Given the description of an element on the screen output the (x, y) to click on. 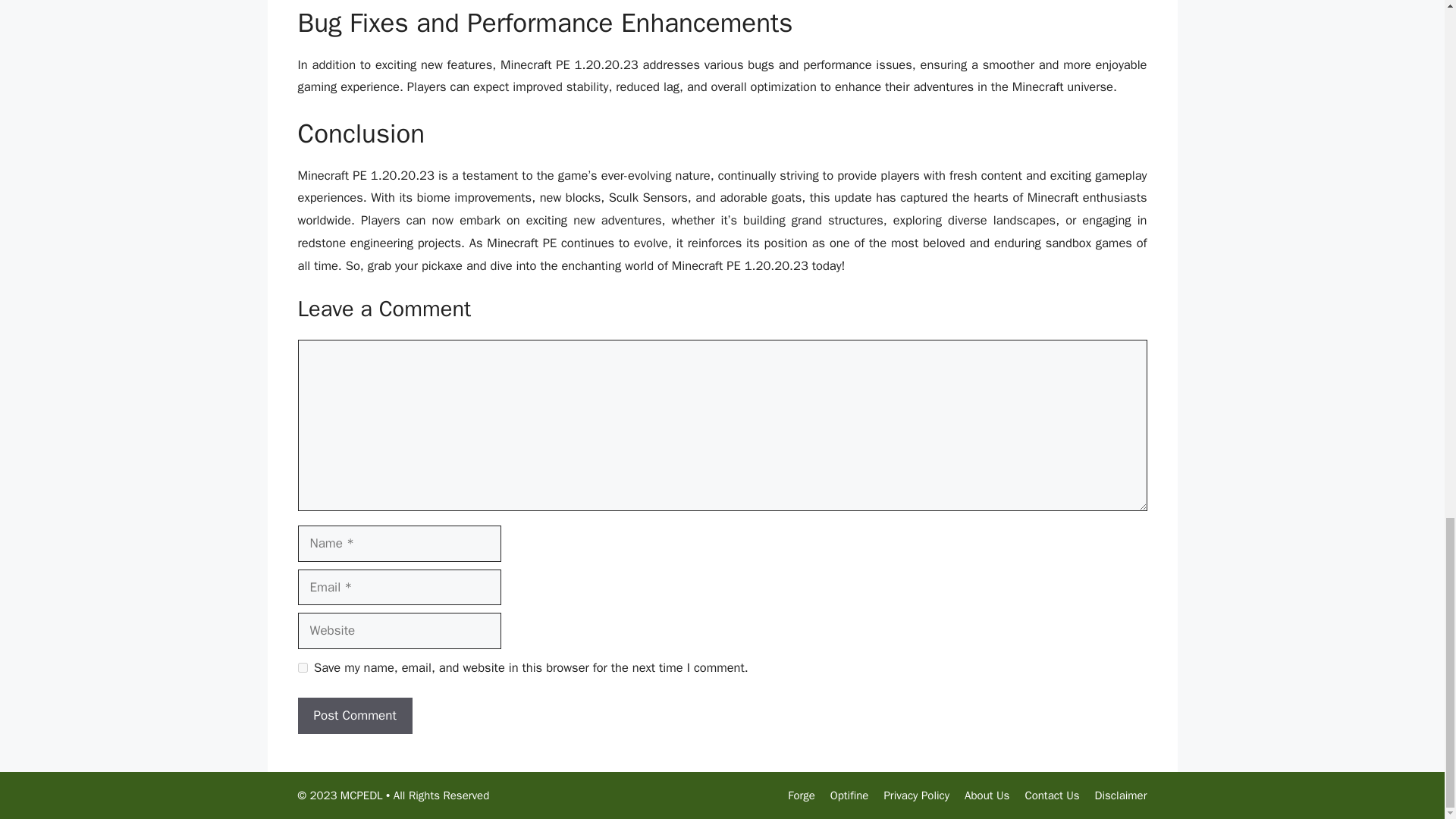
yes (302, 667)
Post Comment (354, 715)
Scroll back to top (1406, 110)
